Given the description of an element on the screen output the (x, y) to click on. 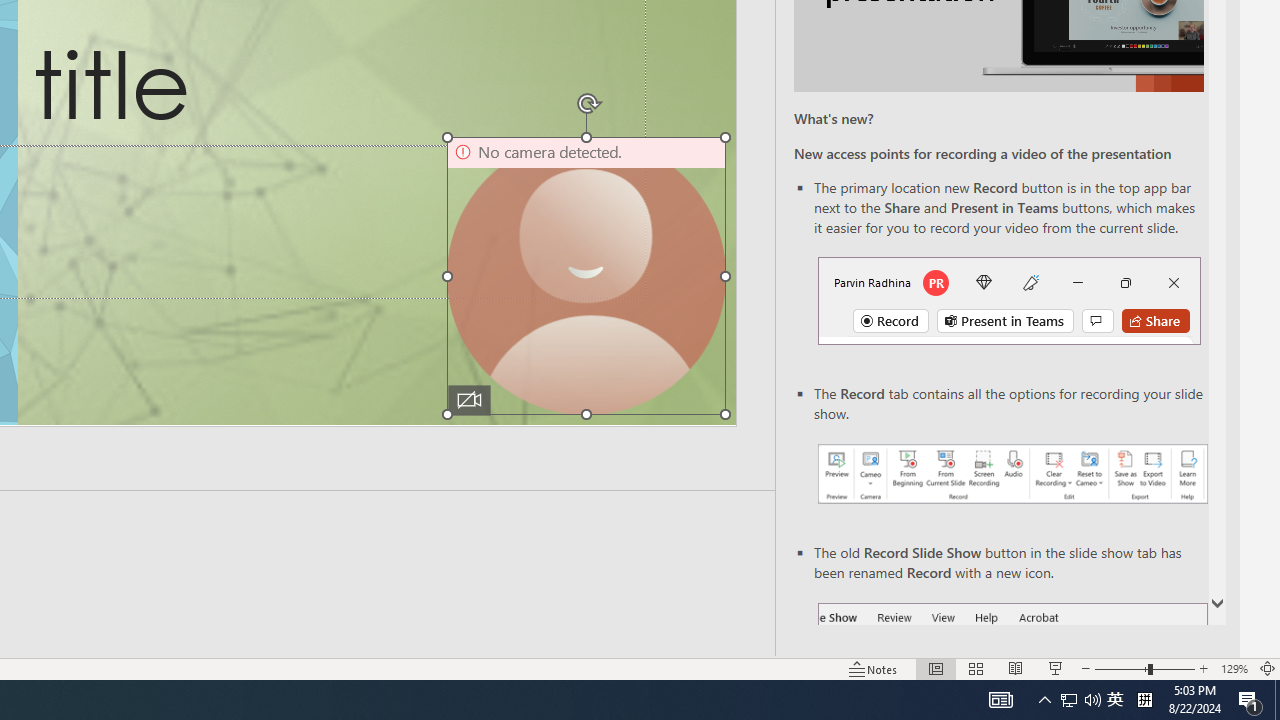
Camera 9, No camera detected. (586, 275)
Zoom (1144, 668)
Normal (936, 668)
Record your presentations screenshot one (1012, 473)
Zoom In (1204, 668)
Zoom Out (1121, 668)
Zoom to Fit  (1267, 668)
Slide Sorter (975, 668)
Slide Show (1055, 668)
Record button in top bar (1008, 300)
Reading View (1015, 668)
Zoom 129% (1234, 668)
Notes  (874, 668)
